Given the description of an element on the screen output the (x, y) to click on. 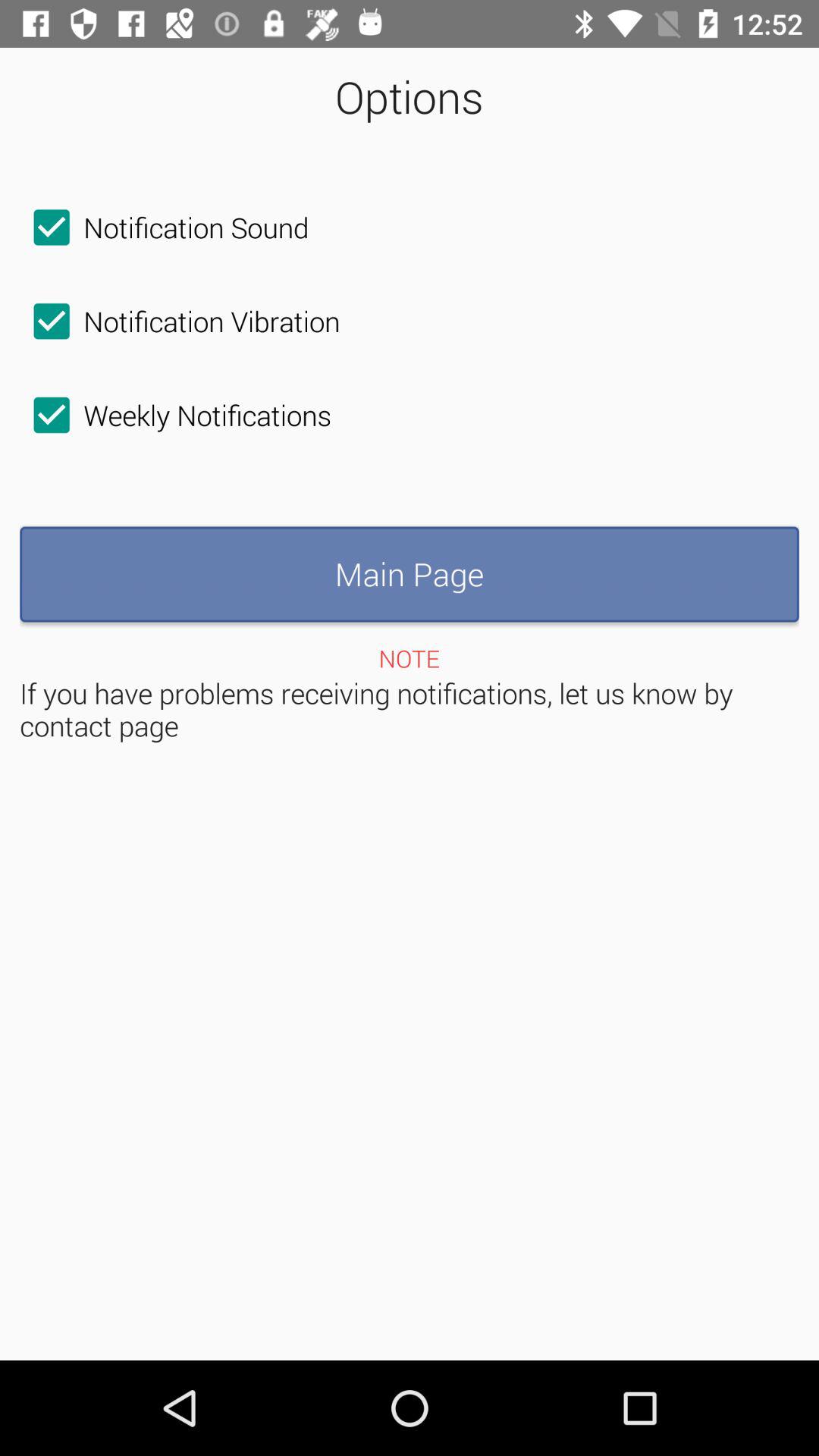
open the notification sound item (163, 227)
